Given the description of an element on the screen output the (x, y) to click on. 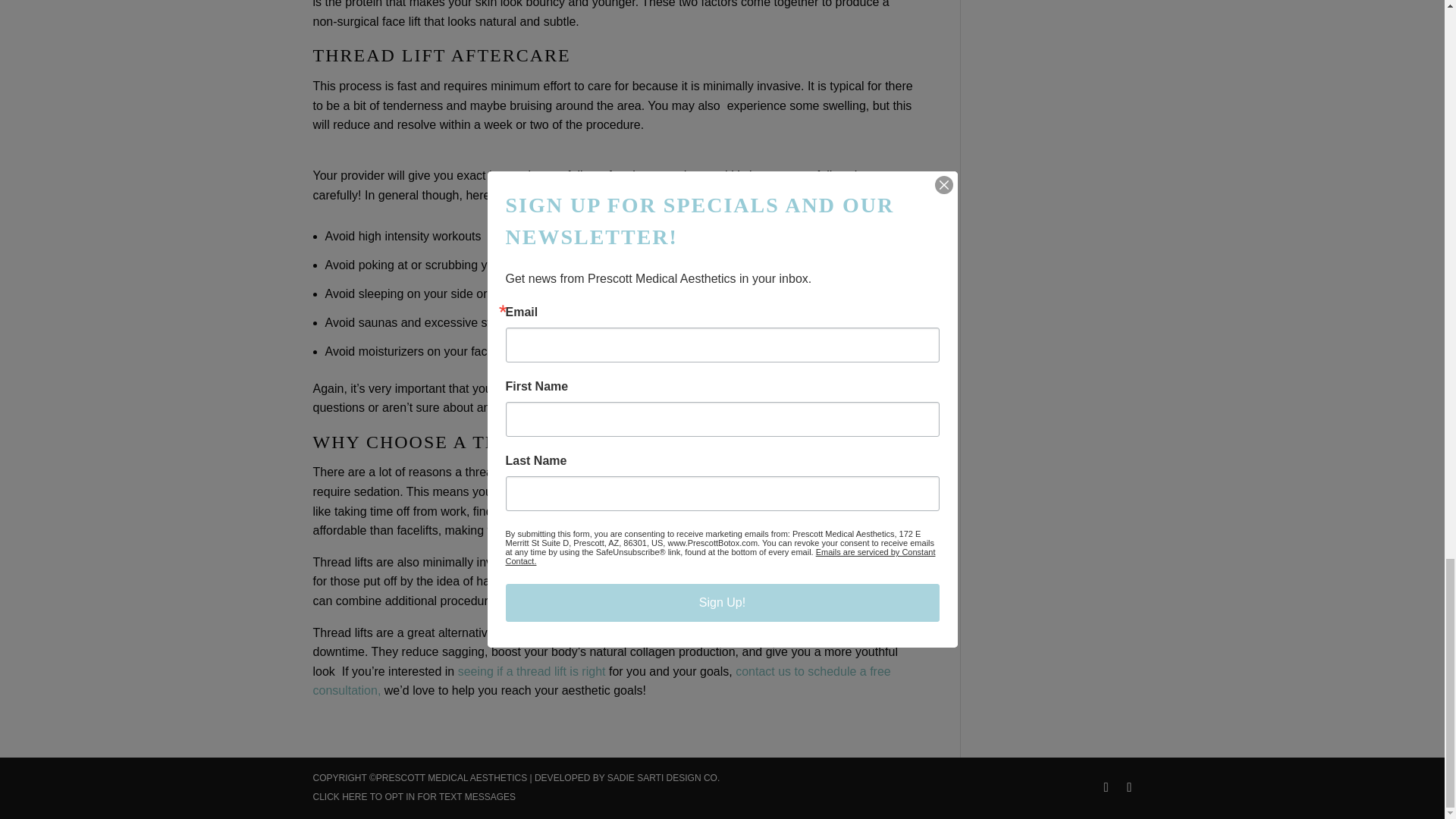
schedule (601, 681)
Thread lift (529, 671)
